Given the description of an element on the screen output the (x, y) to click on. 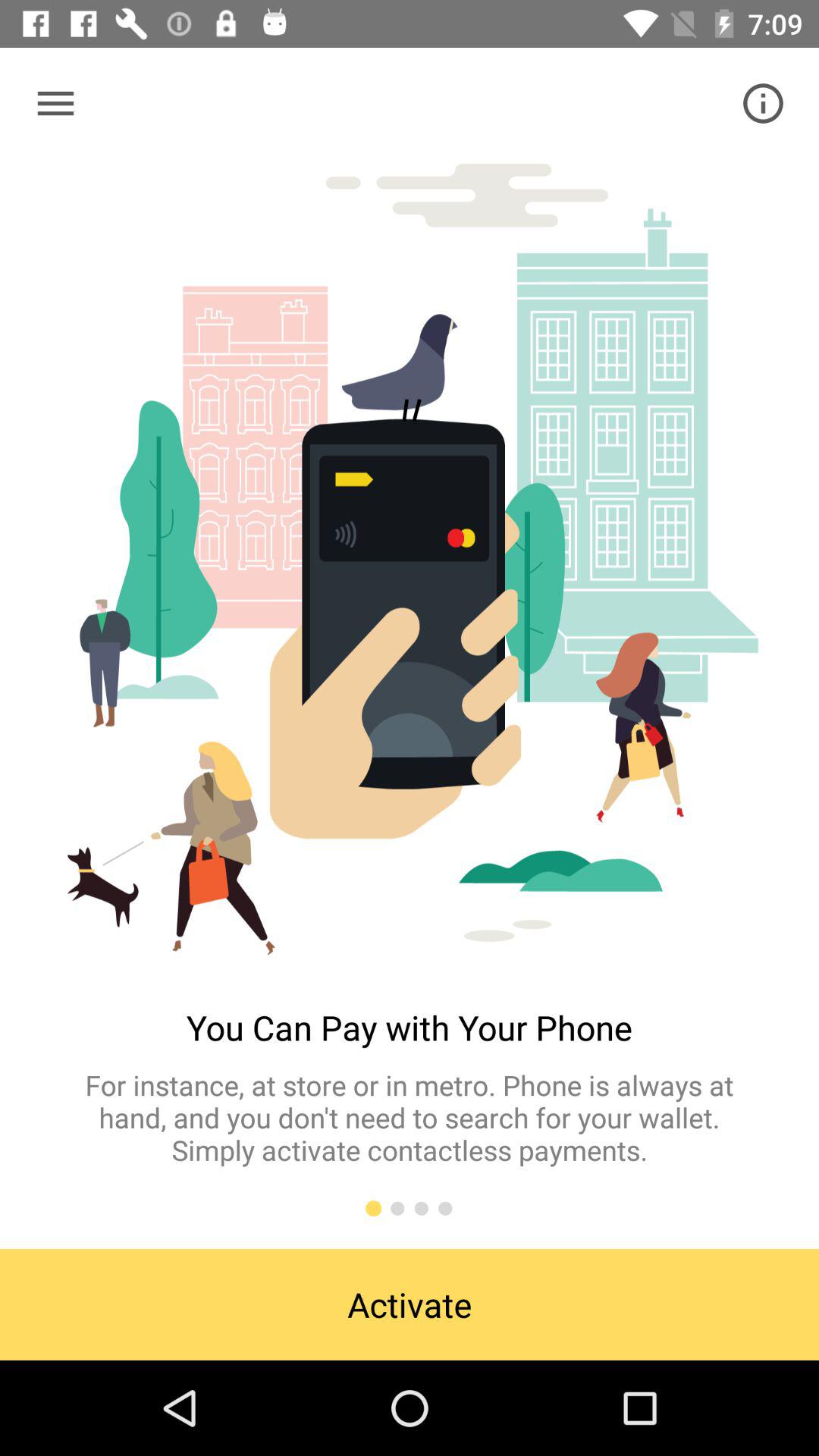
press item at the top right corner (763, 103)
